Given the description of an element on the screen output the (x, y) to click on. 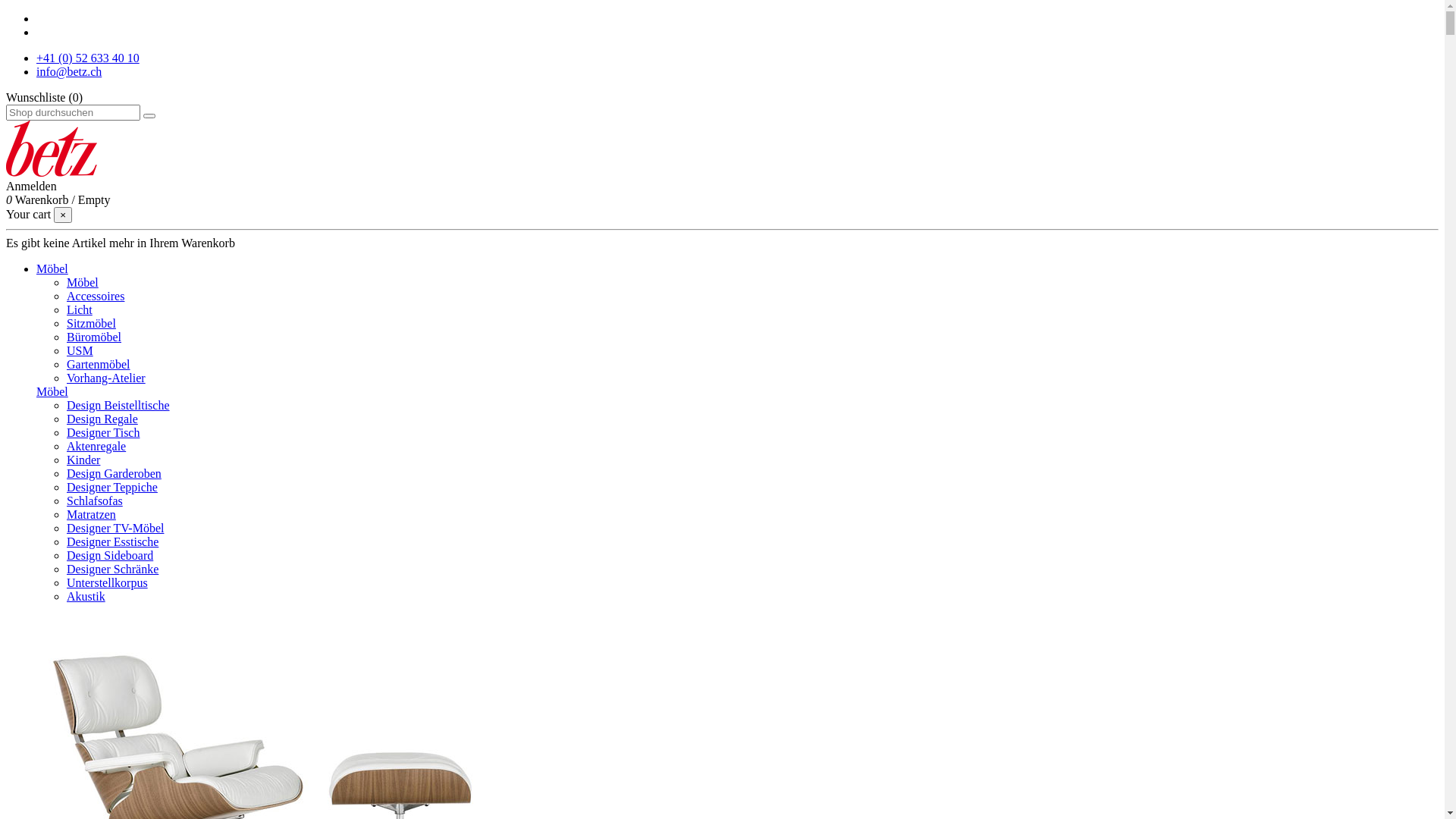
info@betz.ch Element type: text (68, 71)
Design Regale Element type: text (102, 418)
USM Element type: text (79, 350)
Unterstellkorpus Element type: text (106, 582)
Design Sideboard Element type: text (109, 555)
Matratzen Element type: text (91, 514)
0 Warenkorb / Empty Element type: text (58, 199)
Akustik Element type: text (85, 595)
Design Garderoben Element type: text (113, 473)
Designer Tisch Element type: text (102, 432)
Anmelden Element type: text (31, 185)
Designer Teppiche Element type: text (111, 486)
Vorhang-Atelier Element type: text (105, 377)
Designer Esstische Element type: text (112, 541)
Accessoires Element type: text (95, 295)
Schlafsofas Element type: text (94, 500)
Kinder Element type: text (83, 459)
+41 (0) 52 633 40 10 Element type: text (87, 57)
Licht Element type: text (79, 309)
Design Beistelltische Element type: text (117, 404)
Aktenregale Element type: text (95, 445)
Wunschliste (0) Element type: text (44, 97)
